Given the description of an element on the screen output the (x, y) to click on. 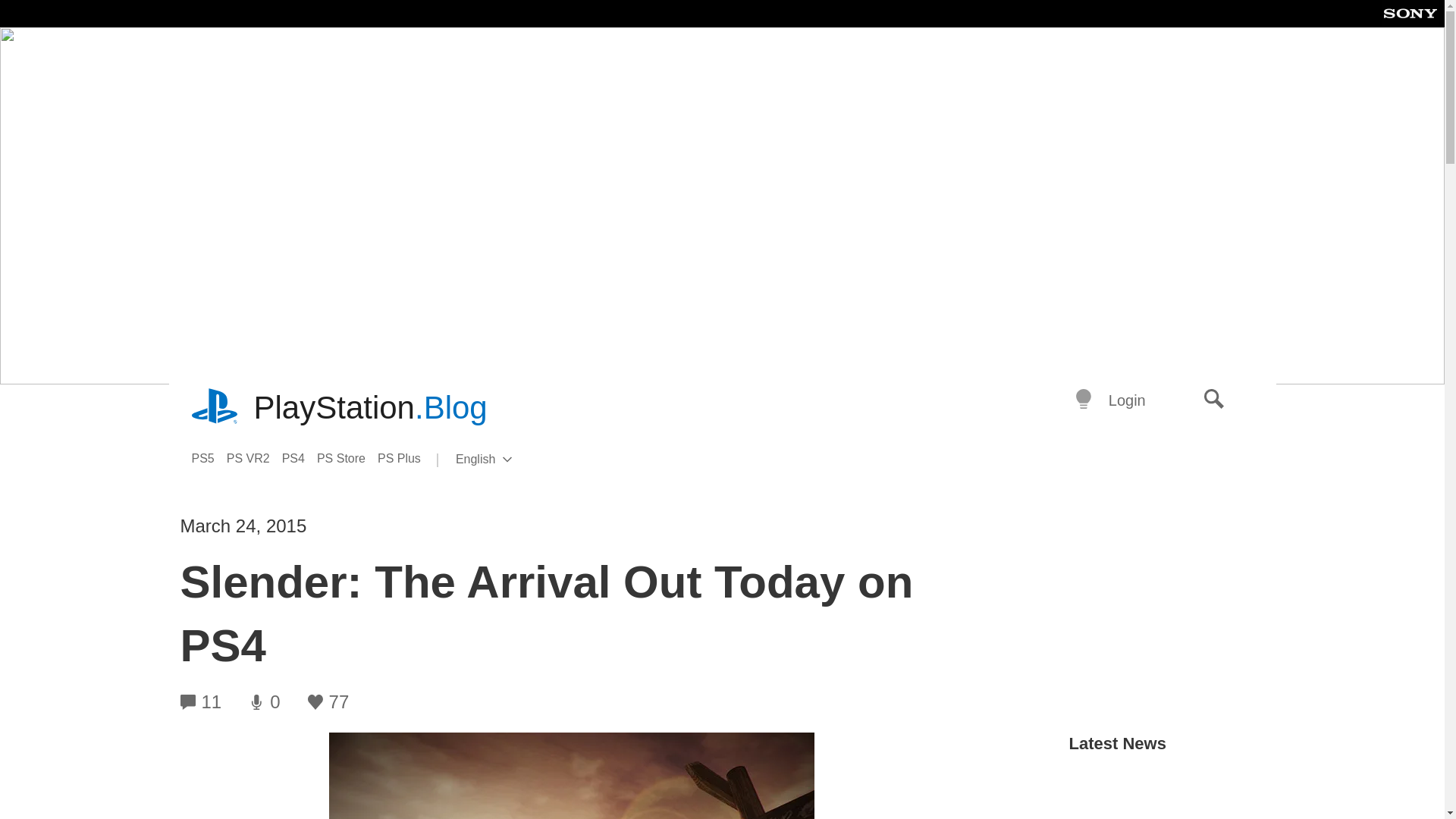
Search (1214, 400)
PS VR2 (254, 458)
Login (1126, 400)
PS Plus (508, 459)
PlayStation.Blog (404, 458)
PS4 (369, 407)
PS5 (299, 458)
playstation.com (207, 458)
PS Store (215, 408)
